Given the description of an element on the screen output the (x, y) to click on. 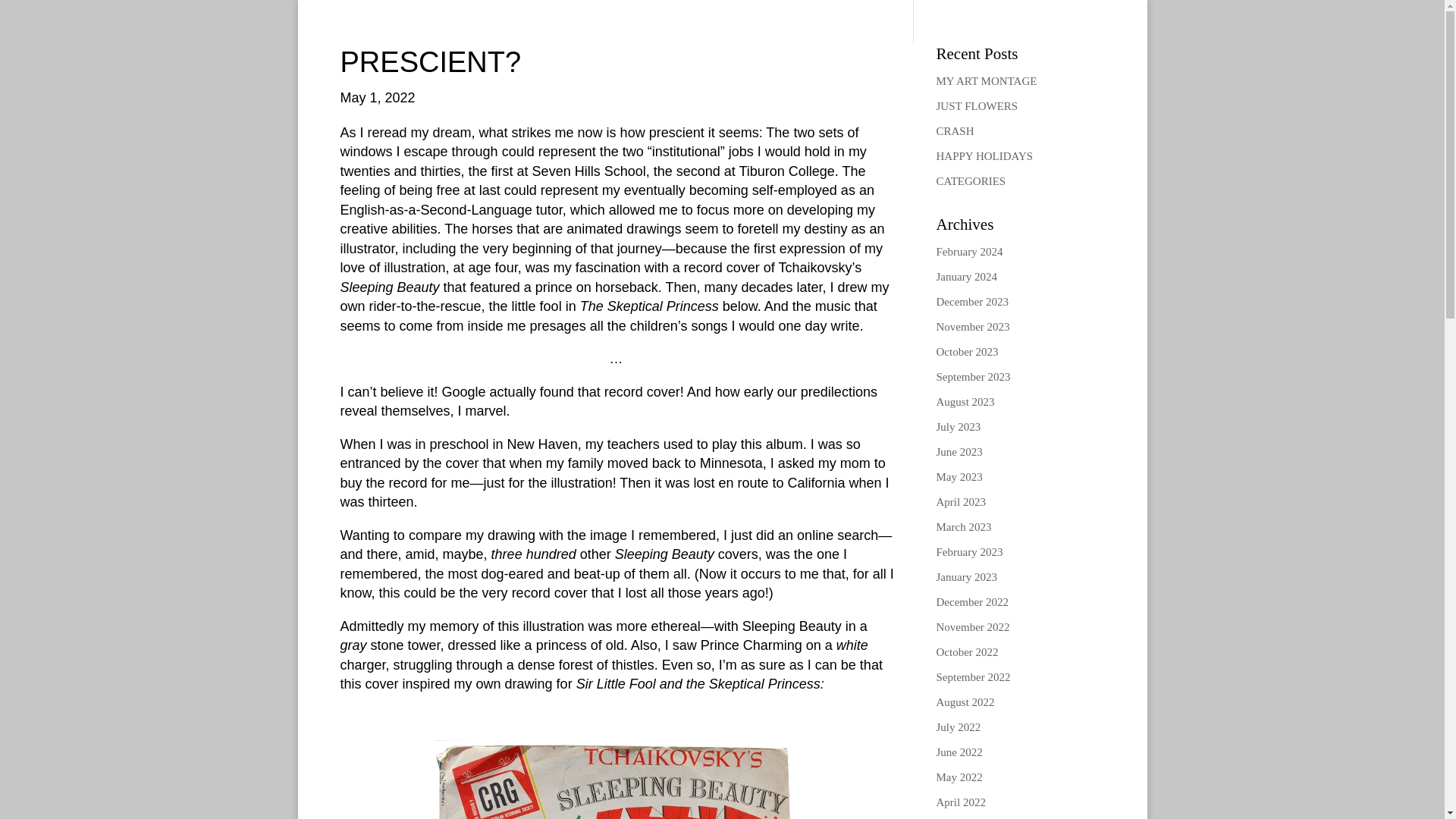
February 2023 (969, 551)
CRASH (955, 131)
MY ART MONTAGE (986, 80)
HAPPY HOLIDAYS (984, 155)
October 2022 (966, 652)
July 2022 (957, 727)
June 2022 (958, 752)
September 2022 (973, 676)
JUST FLOWERS (976, 105)
May 2022 (958, 776)
